Given the description of an element on the screen output the (x, y) to click on. 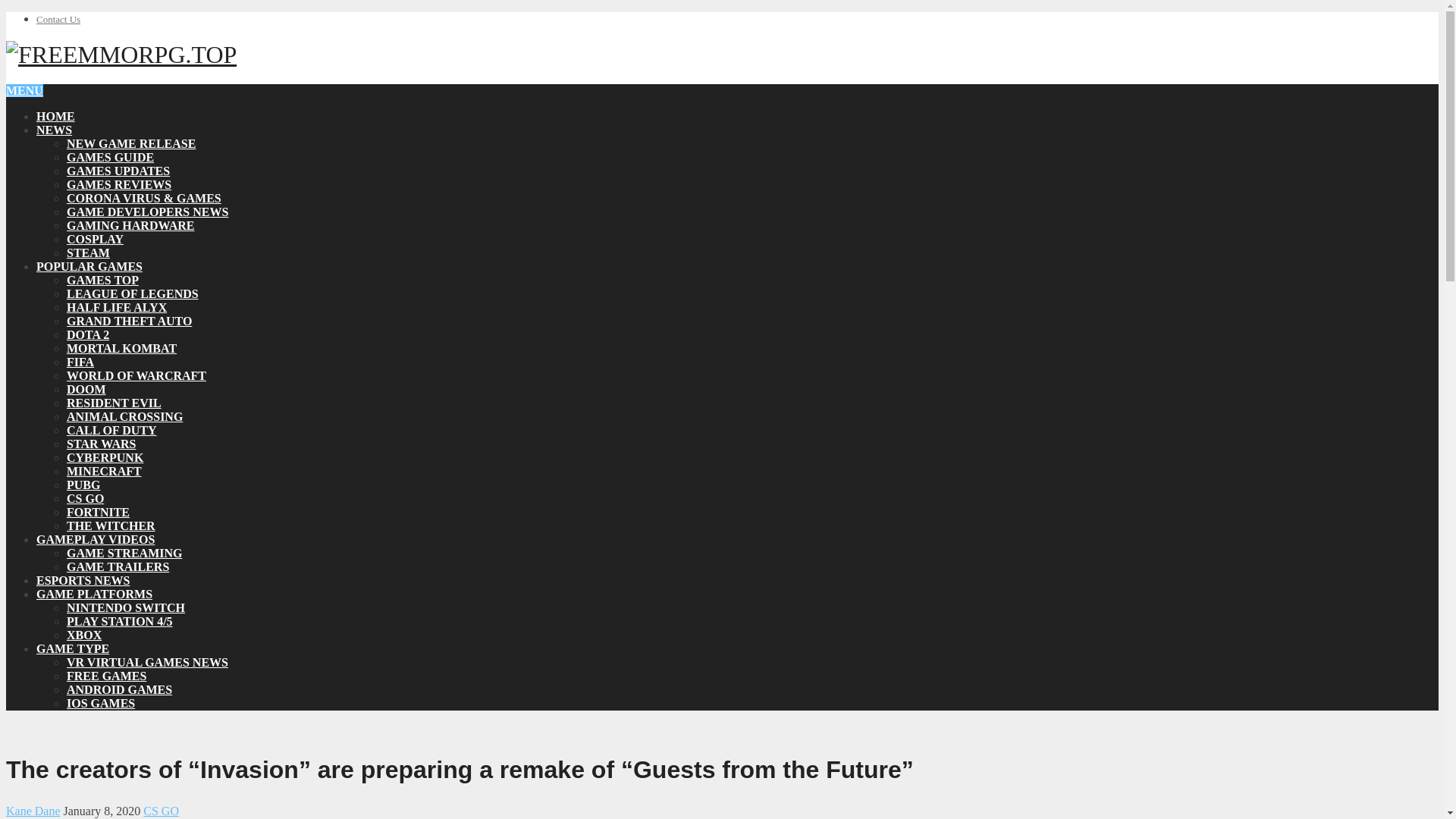
MENU (24, 90)
CS GO (84, 498)
CYBERPUNK (104, 457)
HOME (55, 115)
POPULAR GAMES (89, 266)
GAMES GUIDE (110, 156)
GAME PLATFORMS (94, 594)
RESIDENT EVIL (113, 402)
MORTAL KOMBAT (121, 348)
Posts by Kane Dane (33, 810)
DOTA 2 (87, 334)
STEAM (88, 252)
GAMES REVIEWS (118, 184)
CALL OF DUTY (111, 430)
GAME STREAMING (124, 553)
